Given the description of an element on the screen output the (x, y) to click on. 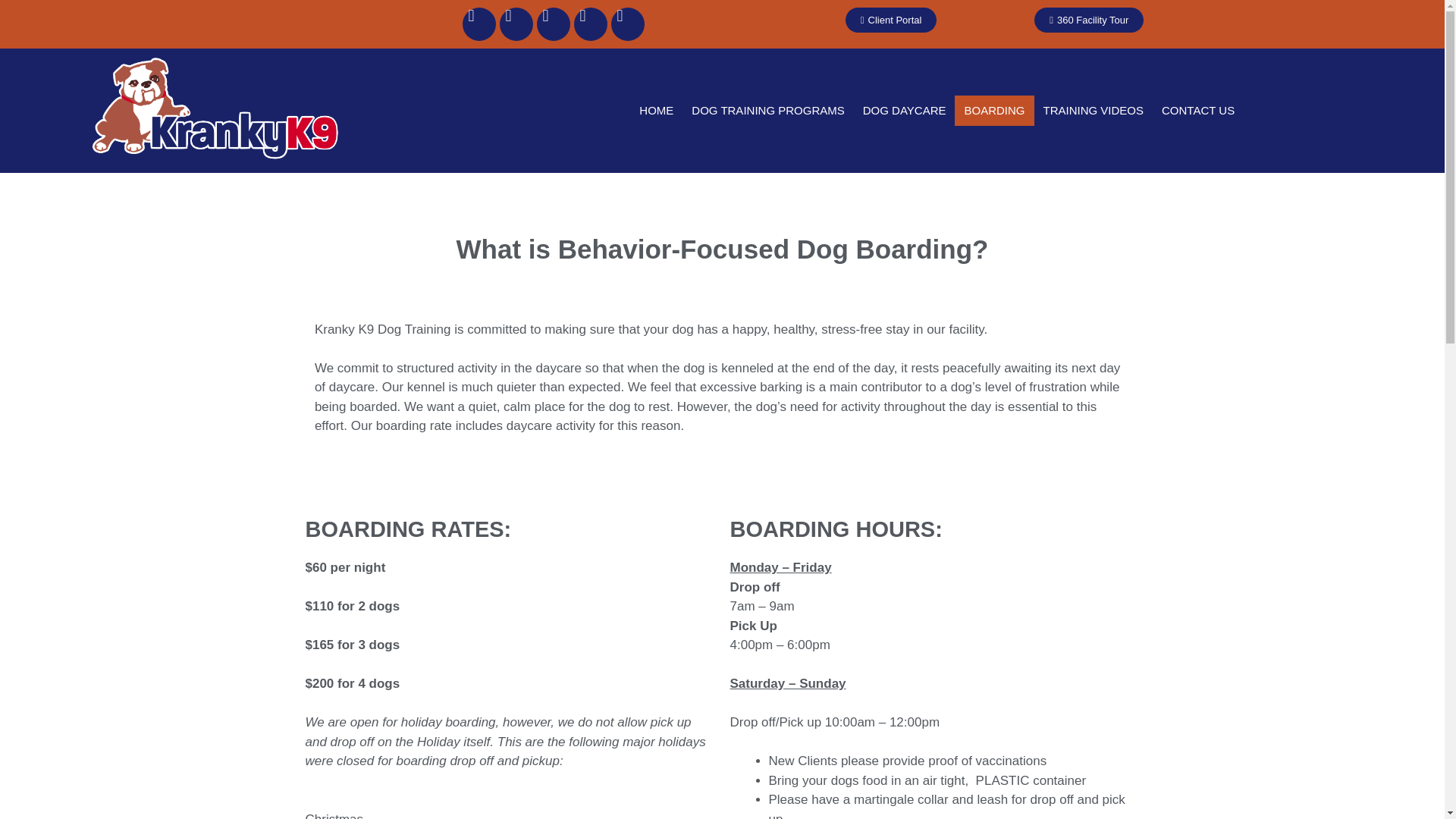
DOG TRAINING PROGRAMS (767, 110)
DOG DAYCARE (904, 110)
BOARDING (994, 110)
360 Facility Tour (1087, 19)
TRAINING VIDEOS (1093, 110)
Client Portal (891, 19)
CONTACT US (1198, 110)
HOME (656, 110)
